Given the description of an element on the screen output the (x, y) to click on. 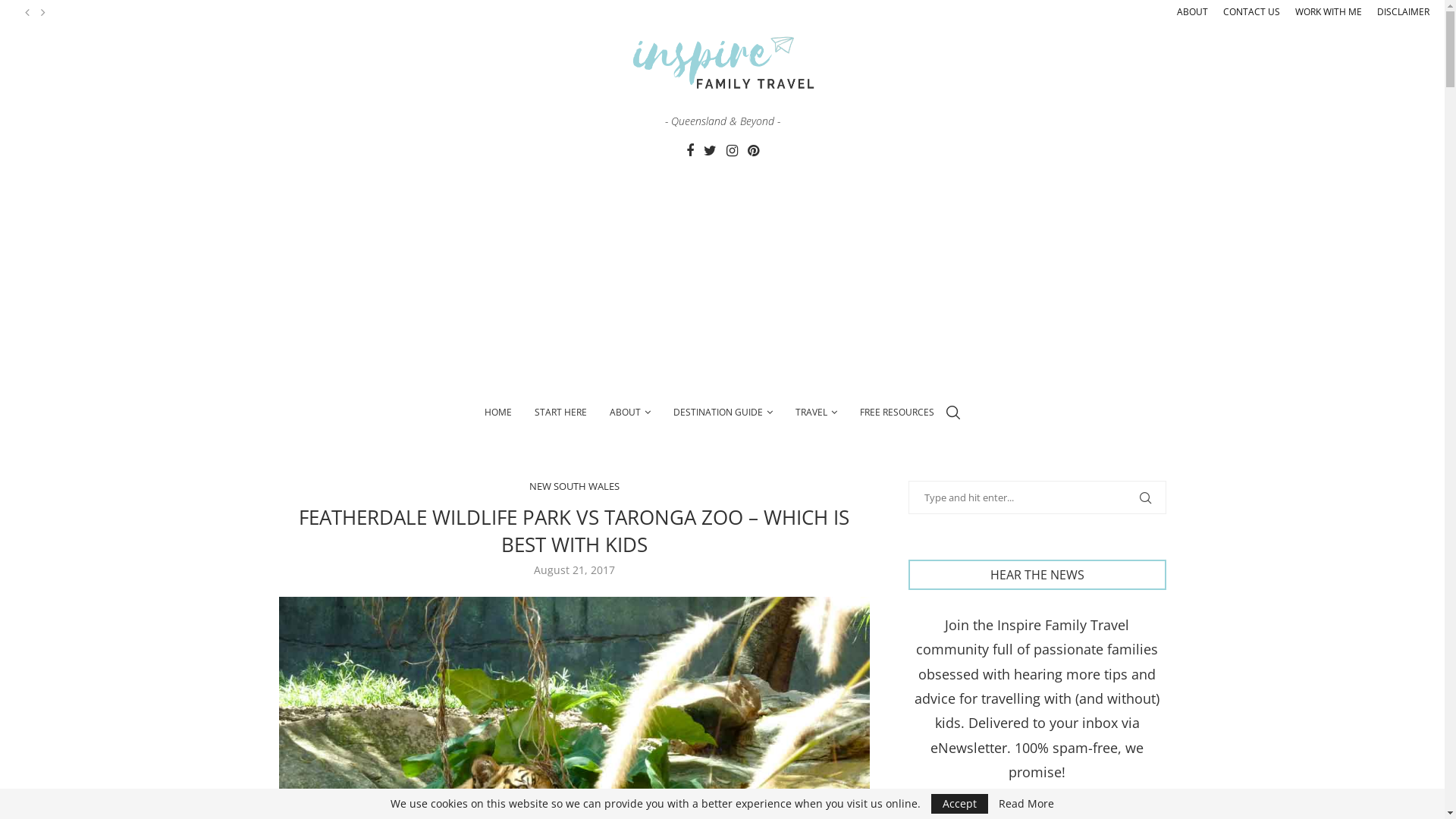
DESTINATION GUIDE Element type: text (722, 412)
ABOUT Element type: text (1192, 12)
THINGS TO DO ON THE GOLD COAST WITH... Element type: text (150, 14)
Advertisement Element type: hover (721, 275)
START HERE Element type: text (559, 412)
TRAVEL Element type: text (815, 412)
Read More Element type: text (1026, 803)
NEW SOUTH WALES Element type: text (574, 486)
Search Element type: text (128, 15)
HOME Element type: text (497, 412)
Accept Element type: text (959, 803)
FREE RESOURCES Element type: text (896, 412)
DISCLAIMER Element type: text (1403, 12)
ABOUT Element type: text (629, 412)
WORK WITH ME Element type: text (1328, 12)
CONTACT US Element type: text (1251, 12)
